Given the description of an element on the screen output the (x, y) to click on. 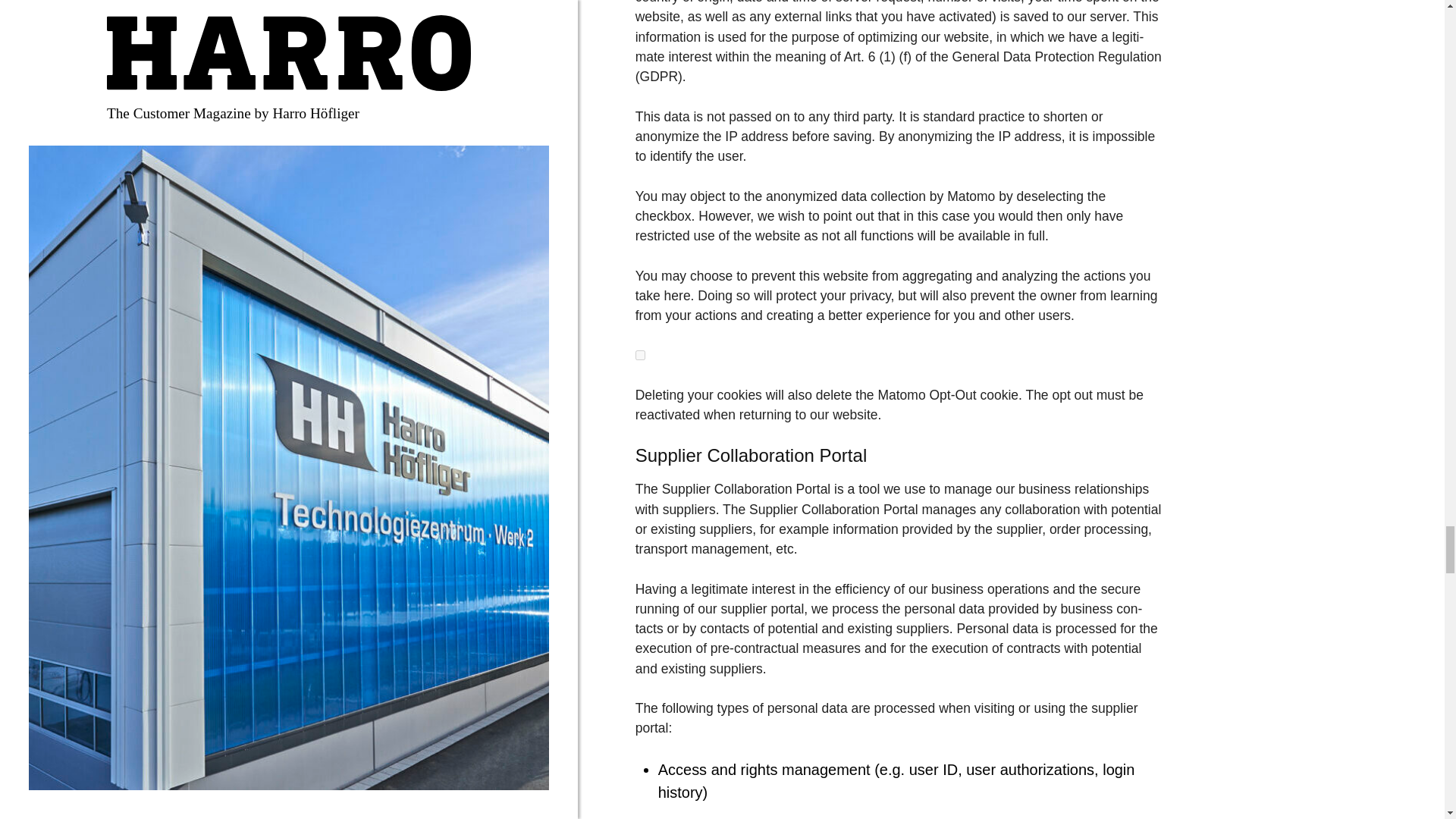
on (639, 355)
